Given the description of an element on the screen output the (x, y) to click on. 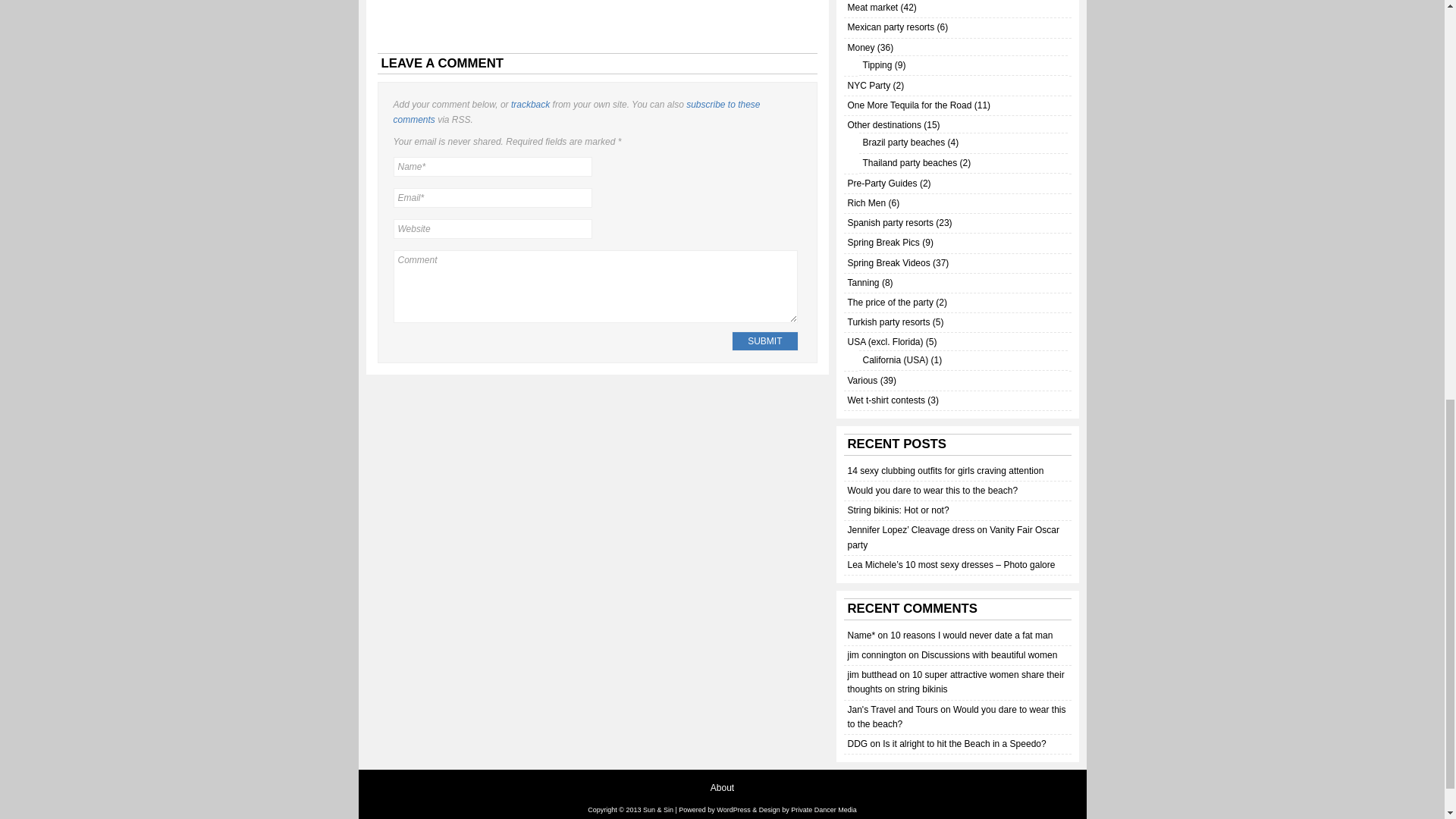
Website (492, 229)
subscribe to these comments (576, 111)
trackback (530, 104)
Submit (764, 341)
Submit (764, 341)
